Given the description of an element on the screen output the (x, y) to click on. 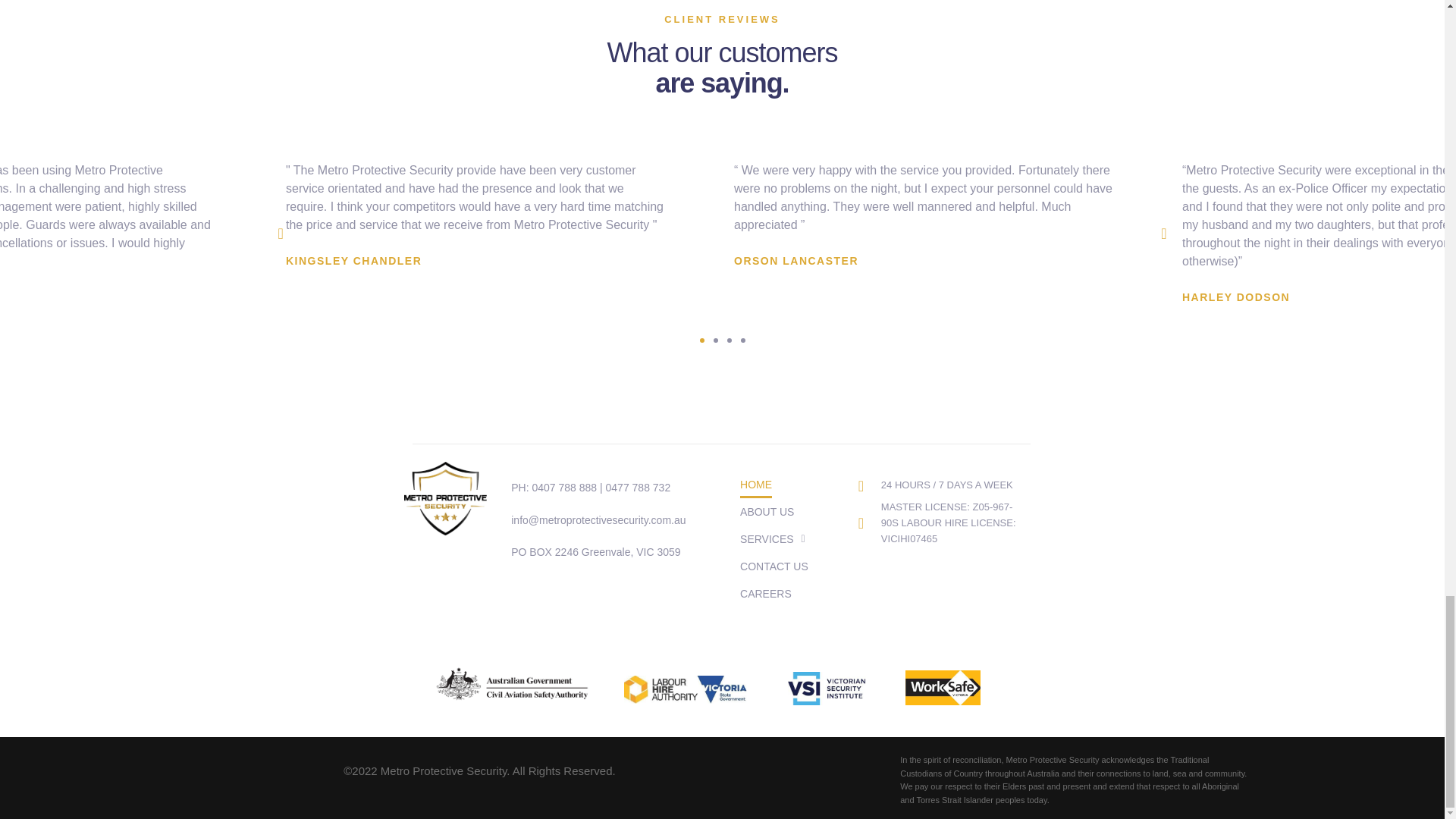
HOME (755, 483)
SERVICES (772, 538)
ABOUT US (766, 511)
